Given the description of an element on the screen output the (x, y) to click on. 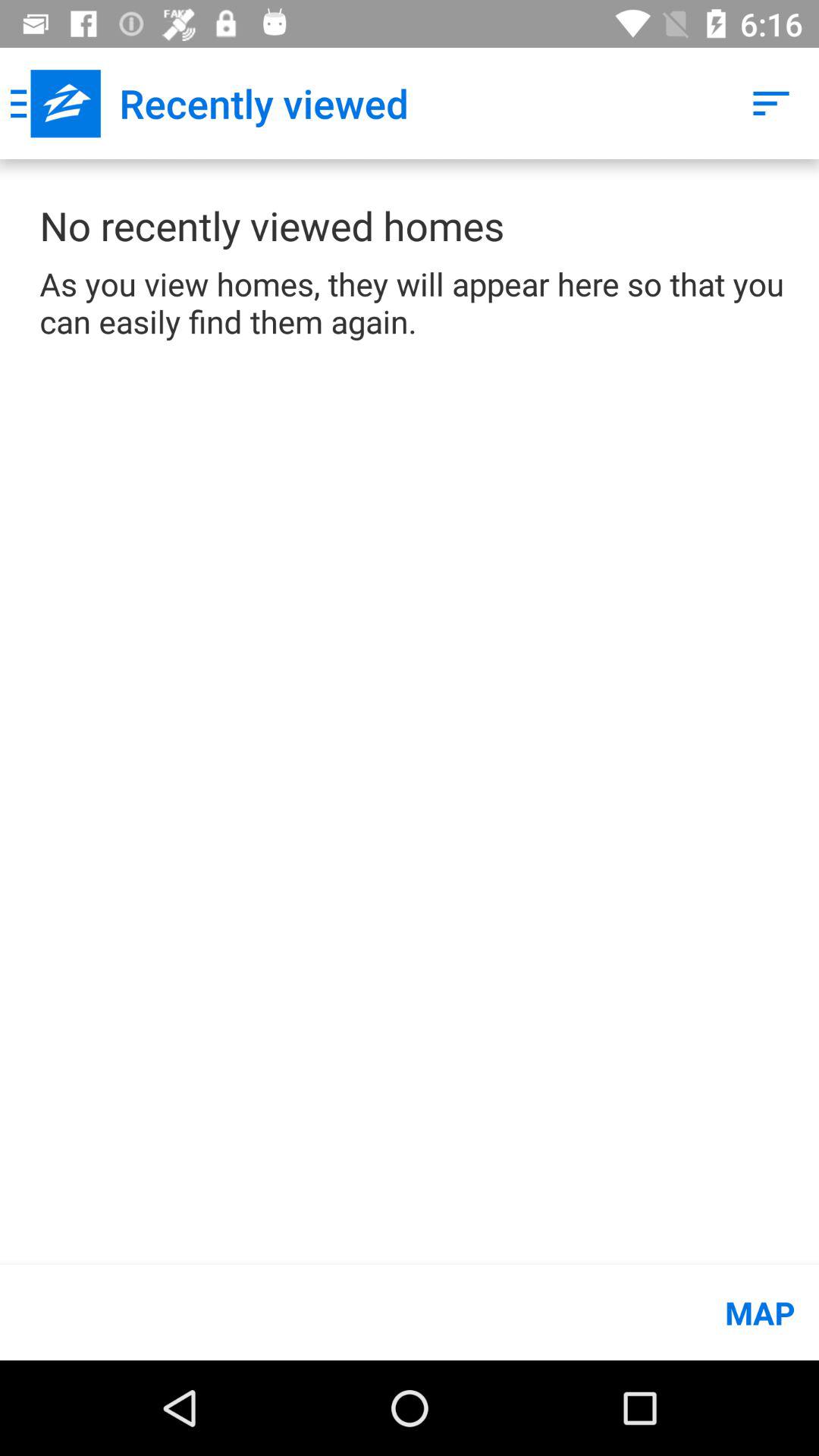
choose app to the left of the recently viewed (55, 103)
